Given the description of an element on the screen output the (x, y) to click on. 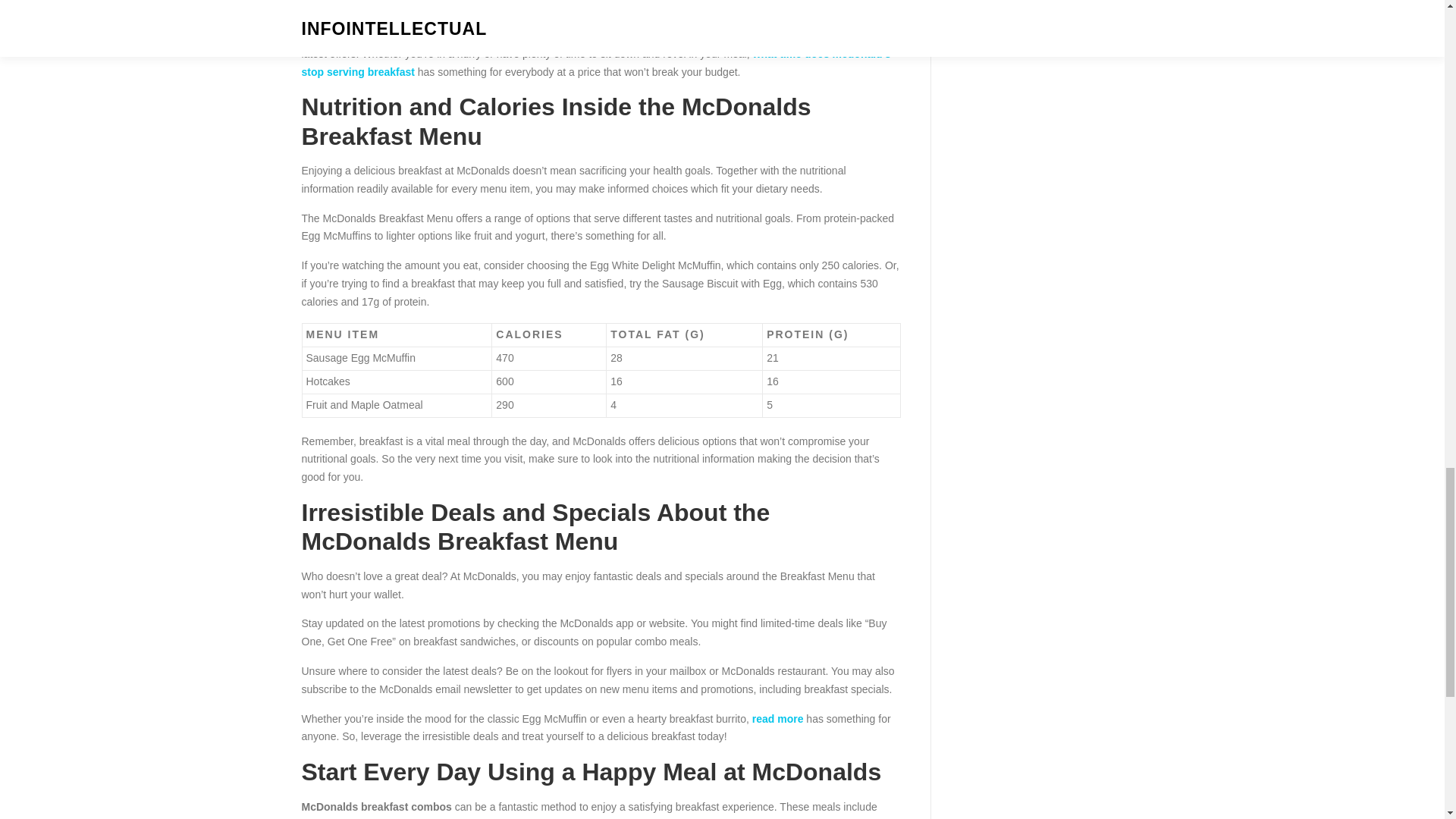
read more (777, 718)
